Given the description of an element on the screen output the (x, y) to click on. 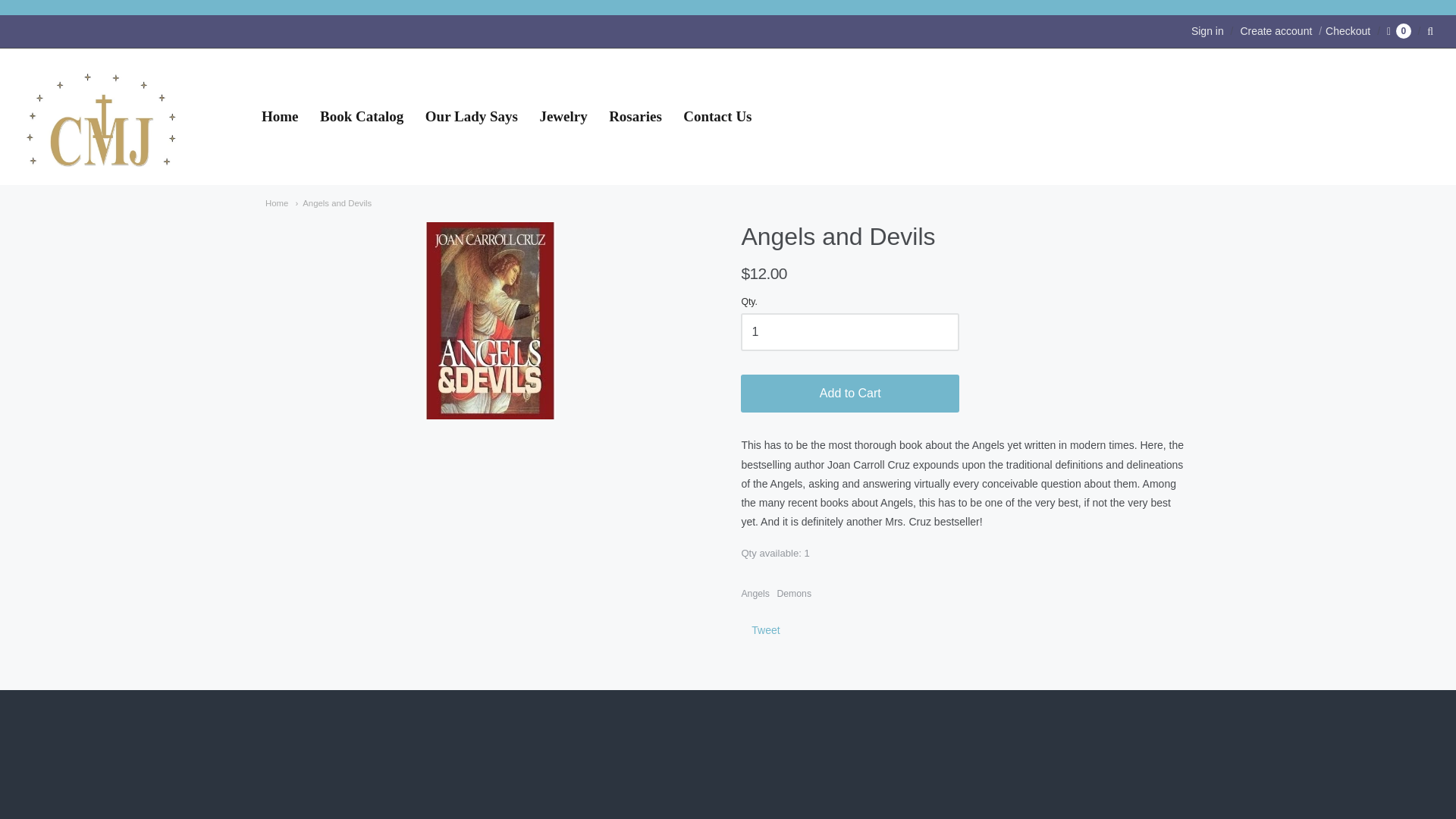
Book Catalog (361, 116)
Demons (793, 593)
Add to Cart (850, 393)
Show products matching tag Angels (754, 593)
Angels and Devils (333, 203)
Angels and Devils (333, 203)
1 (850, 331)
Rosaries (635, 116)
Checkout (1342, 30)
0 (1398, 30)
